Given the description of an element on the screen output the (x, y) to click on. 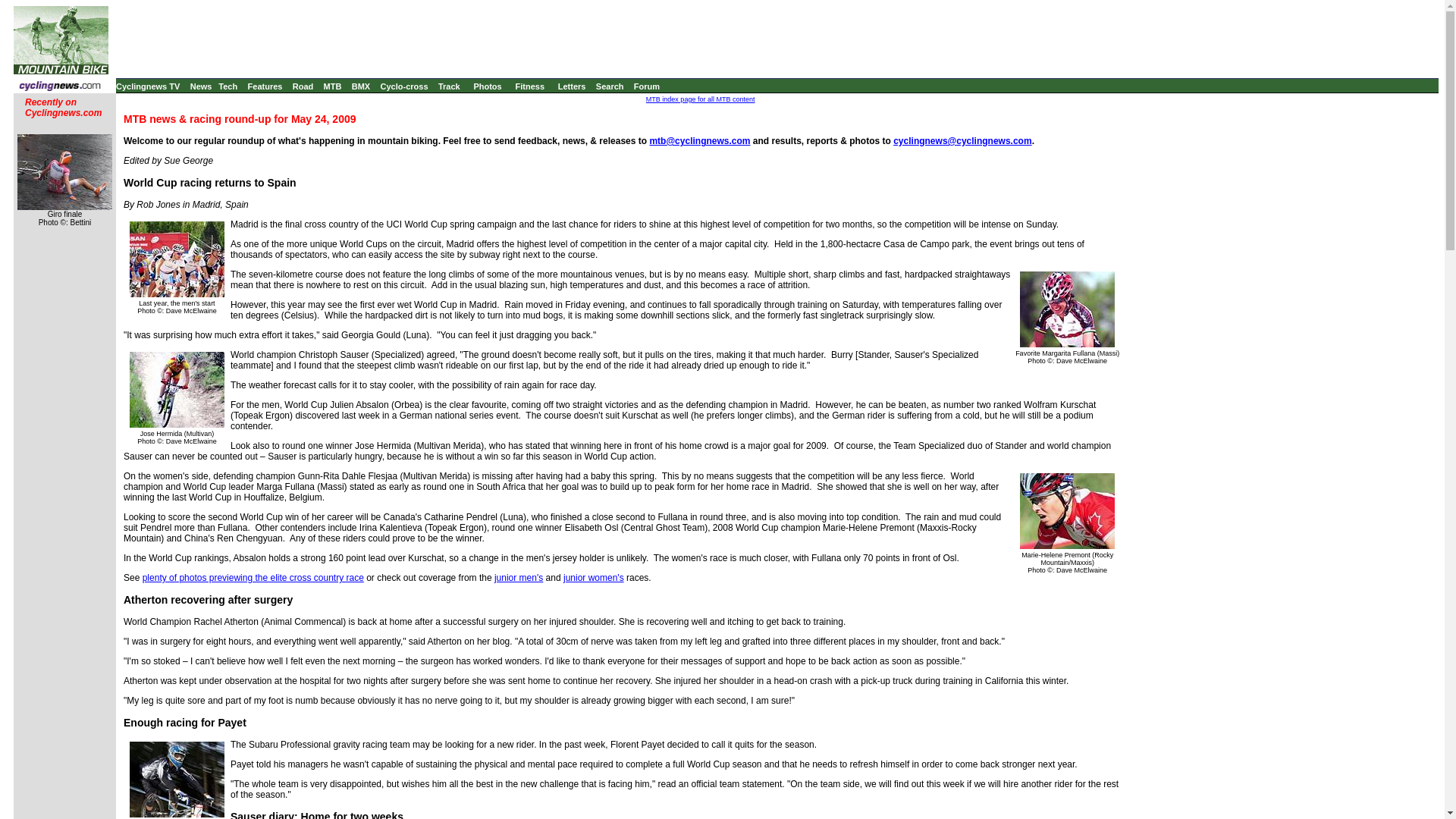
plenty of photos previewing the elite cross country race (253, 577)
News (201, 85)
Photos (486, 85)
junior men's (519, 577)
MTB index page for all MTB content (700, 99)
Search (609, 85)
MTB (332, 85)
junior women's (593, 577)
Fitness (529, 85)
Letters (571, 85)
